Given the description of an element on the screen output the (x, y) to click on. 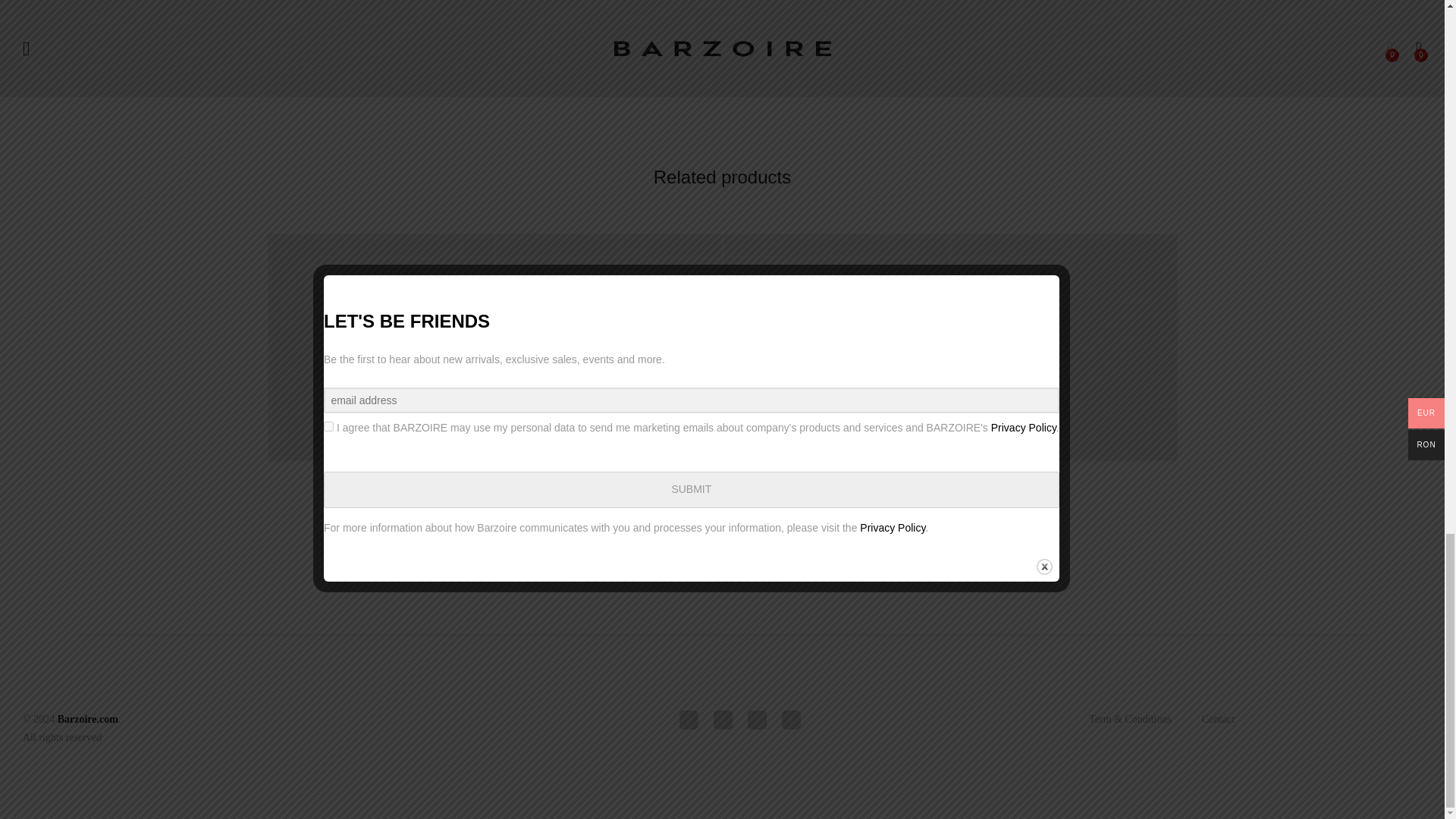
Submit (325, 56)
